Given the description of an element on the screen output the (x, y) to click on. 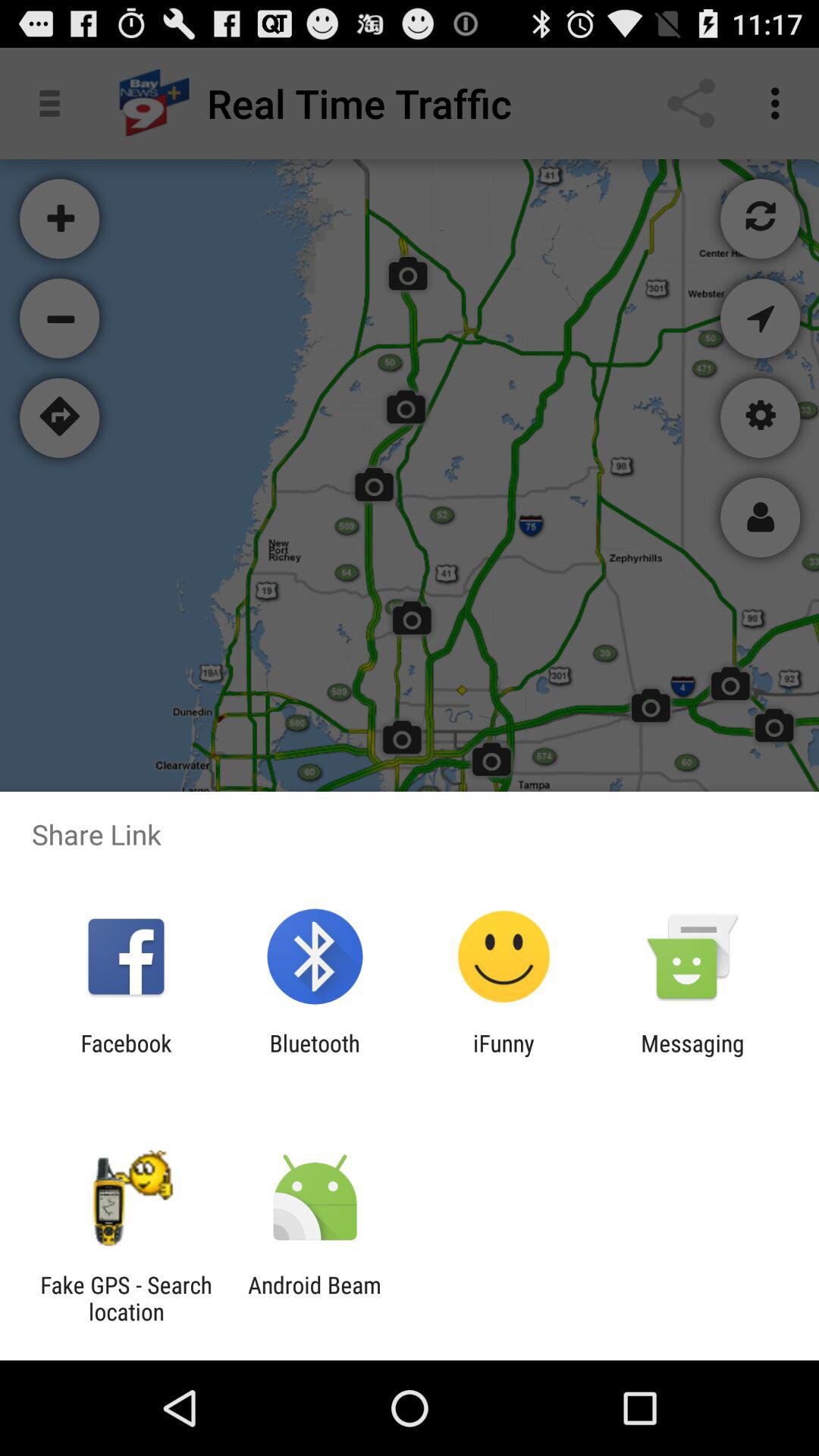
choose the item to the right of the fake gps search (314, 1298)
